Given the description of an element on the screen output the (x, y) to click on. 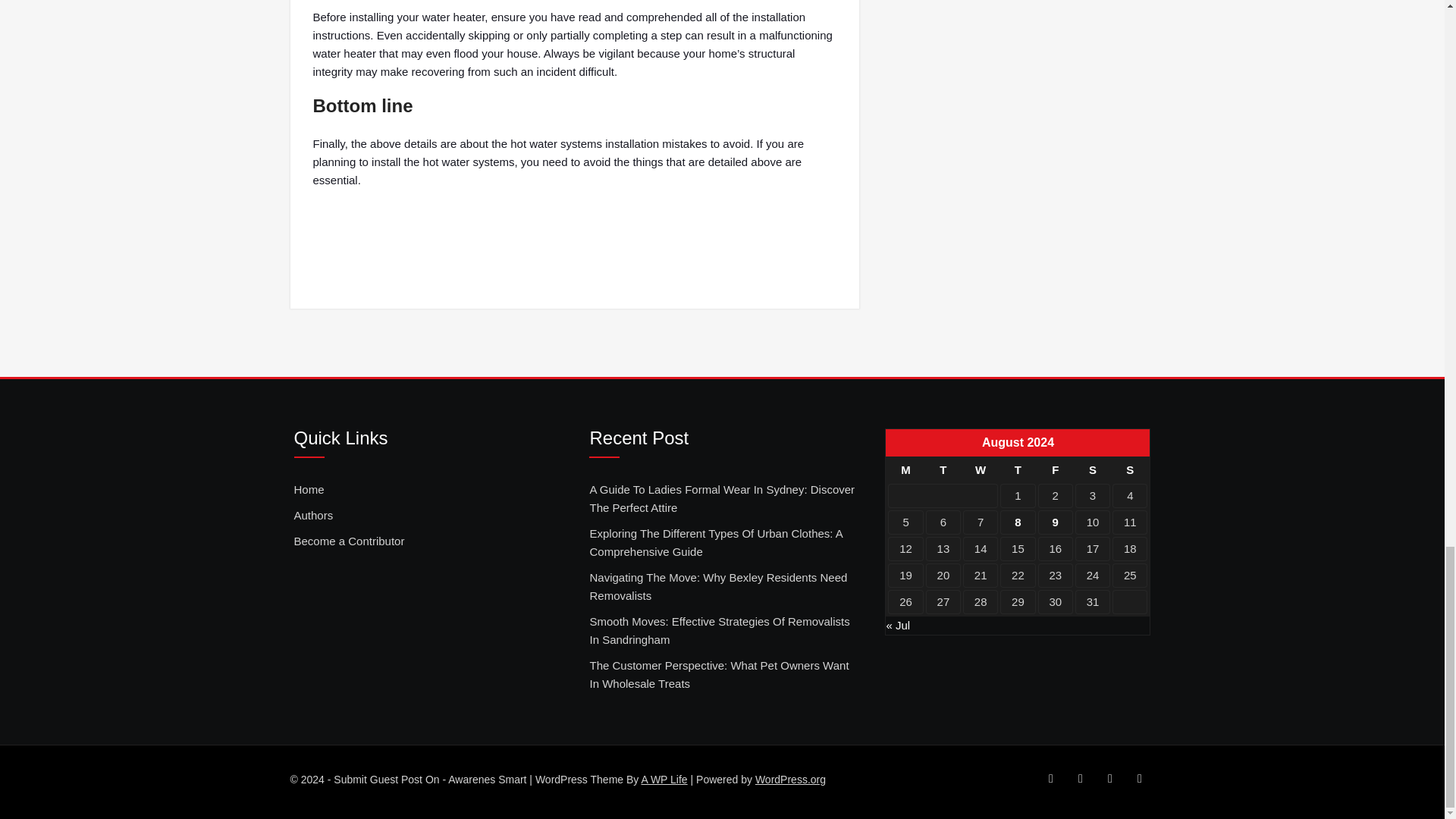
Monday (905, 469)
Thursday (1017, 469)
Saturday (1092, 469)
Wednesday (979, 469)
Authors (313, 515)
Sunday (1129, 469)
Tuesday (943, 469)
Home (309, 489)
Friday (1055, 469)
